Given the description of an element on the screen output the (x, y) to click on. 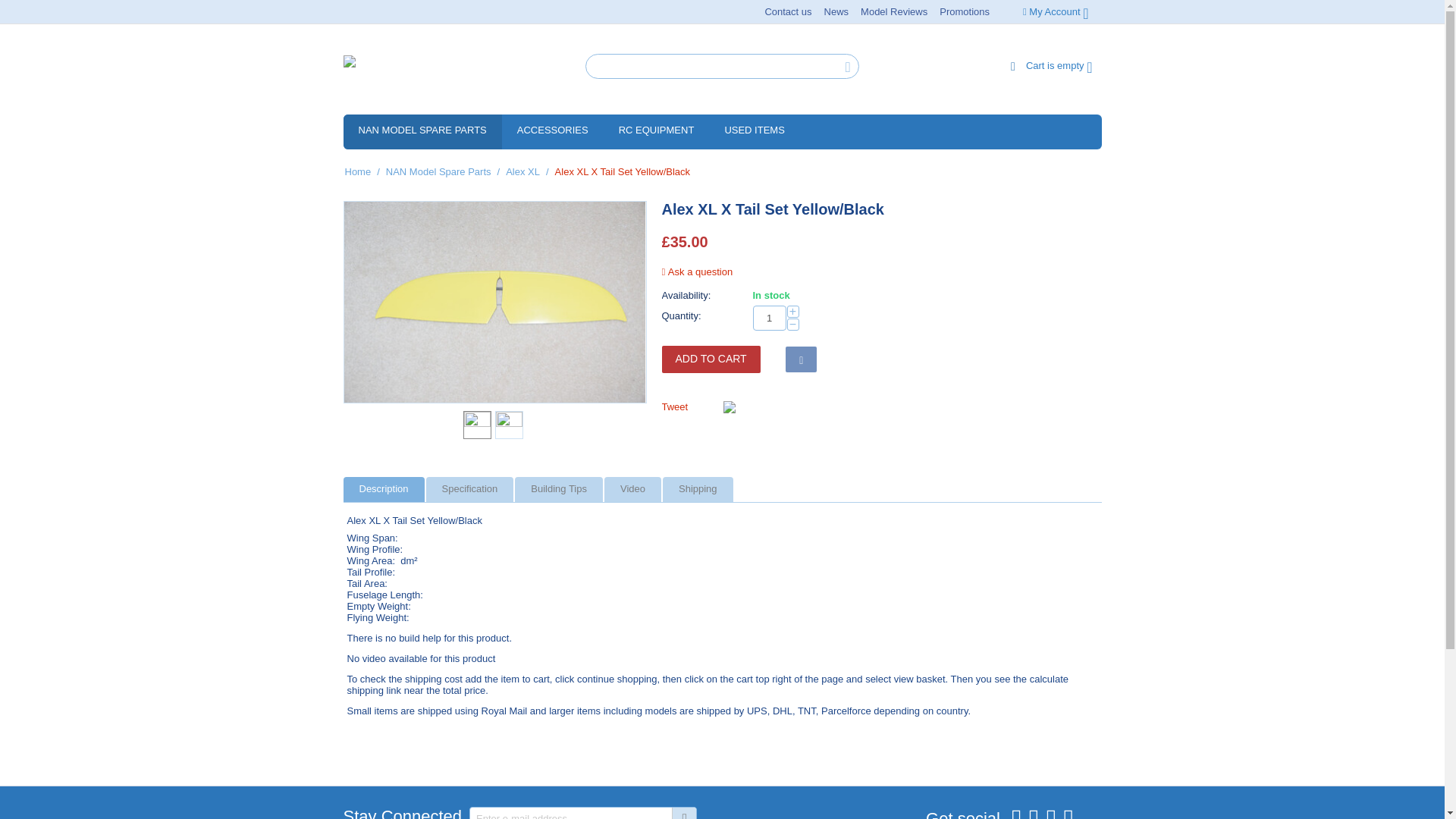
Cart is empty (1051, 65)
Acemodel.co.uk (427, 69)
ACCESSORIES (553, 131)
NAN MODEL SPARE PARTS (421, 131)
News (837, 11)
Search products (722, 66)
Promotions (964, 11)
Model Reviews (893, 11)
Add to wish list (801, 359)
Go (683, 813)
Acemodel.co.uk (427, 70)
 My Account (1056, 11)
Enter e-mail address (582, 812)
Contact us (787, 11)
Ask a question (696, 271)
